Given the description of an element on the screen output the (x, y) to click on. 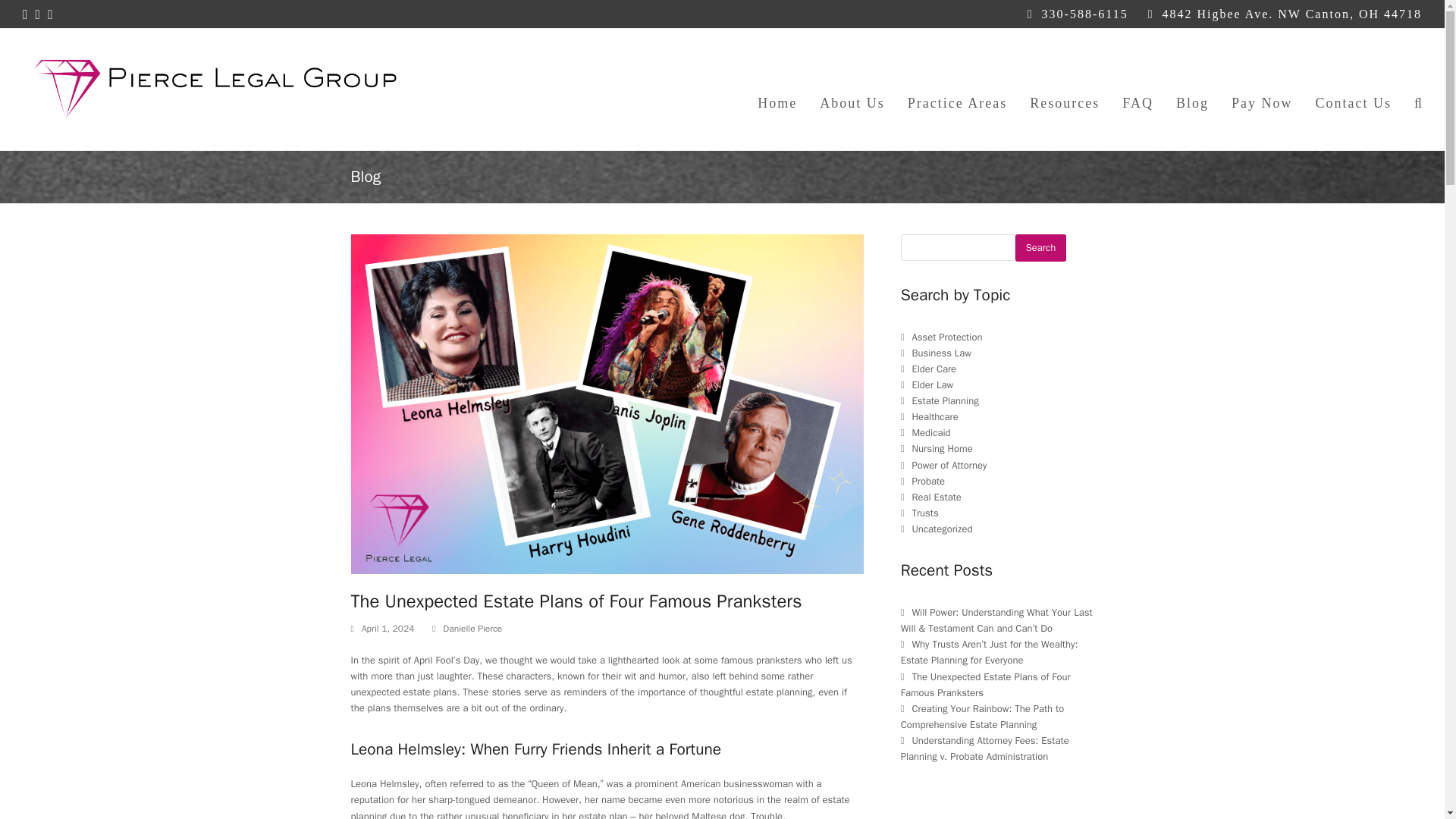
330-588-6115 (1085, 13)
About Us (852, 89)
Contact Us (1353, 89)
Blog (1192, 89)
Posts by Danielle Pierce (472, 628)
Resources (1063, 89)
FAQ (1137, 89)
Pay Now (1262, 89)
Practice Areas (956, 89)
Home (776, 89)
Danielle Pierce (472, 628)
